Given the description of an element on the screen output the (x, y) to click on. 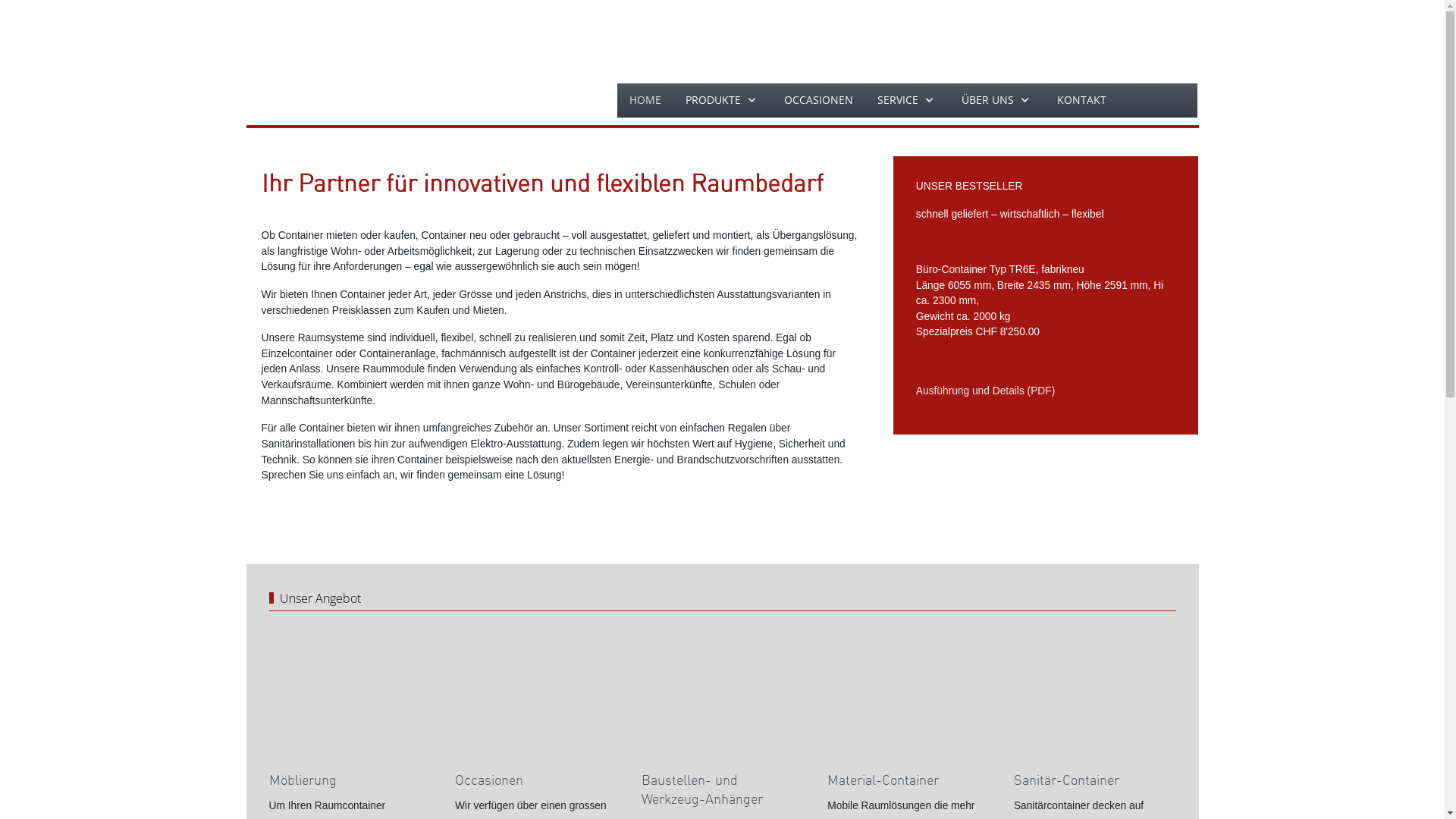
KONTAKT Element type: text (1081, 99)
OCCASIONEN Element type: text (818, 99)
PRODUKTE Element type: text (722, 100)
Suchen Element type: hover (1156, 100)
SERVICE Element type: text (906, 100)
HOME Element type: text (645, 99)
